Given the description of an element on the screen output the (x, y) to click on. 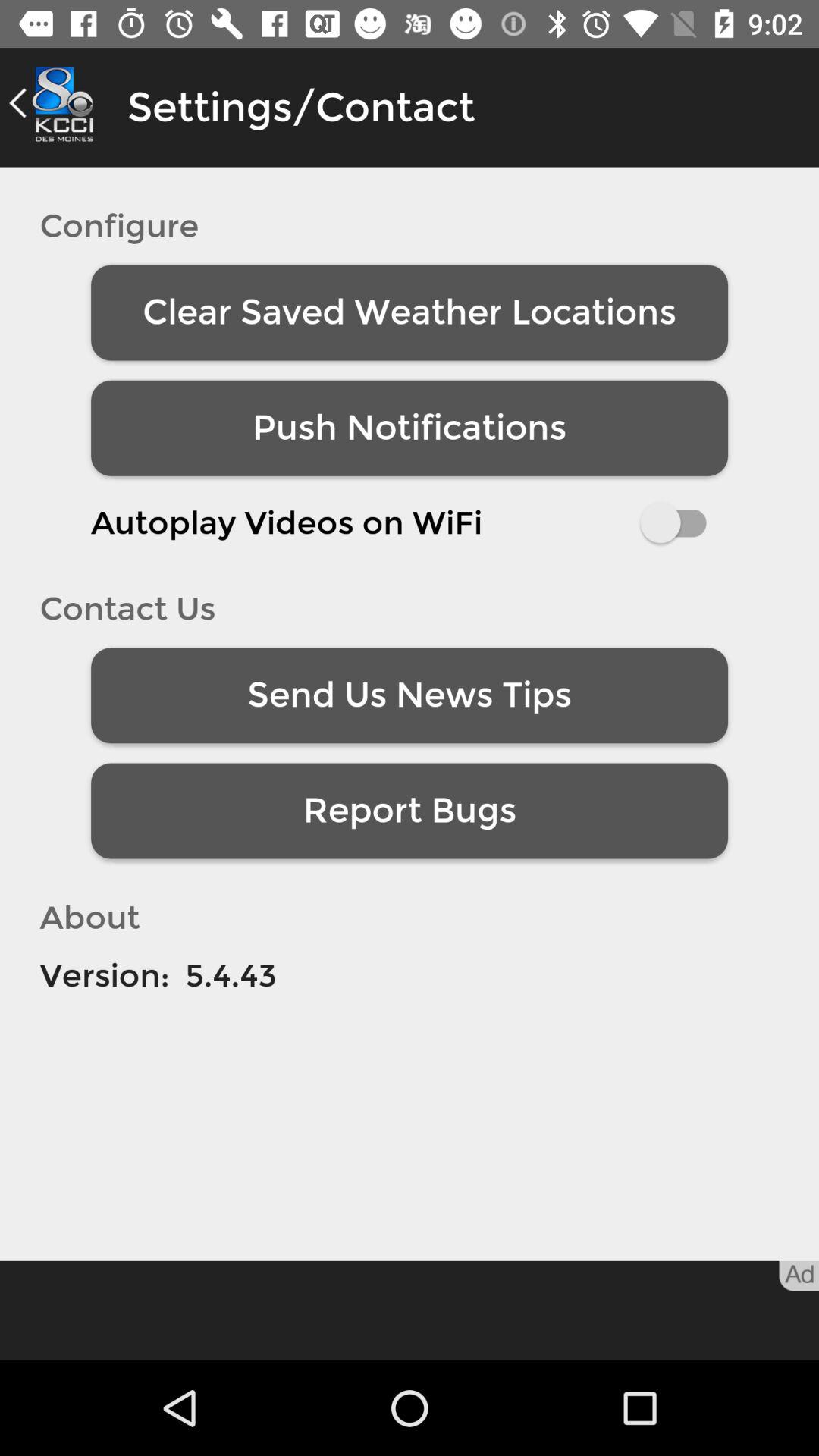
open item to the right of the version: (230, 975)
